Given the description of an element on the screen output the (x, y) to click on. 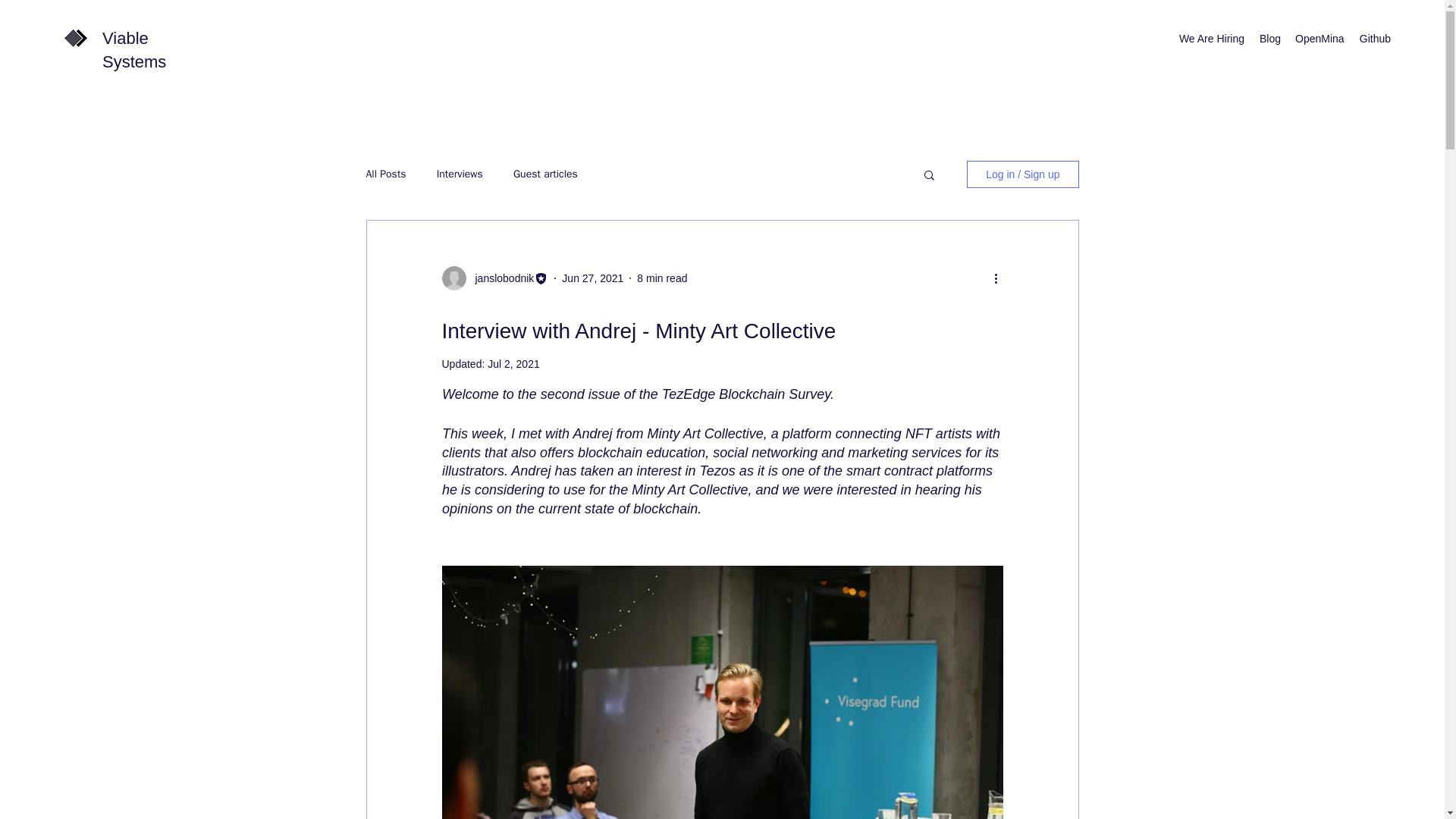
janslobodnik (499, 278)
Jul 2, 2021 (513, 363)
OpenMina (1319, 38)
Interviews (459, 173)
Jun 27, 2021 (592, 277)
Github (1374, 38)
All Posts (385, 173)
We Are Hiring (1211, 38)
Blog (1269, 38)
8 min read (662, 277)
Guest articles (545, 173)
Viable Systems (133, 49)
